Given the description of an element on the screen output the (x, y) to click on. 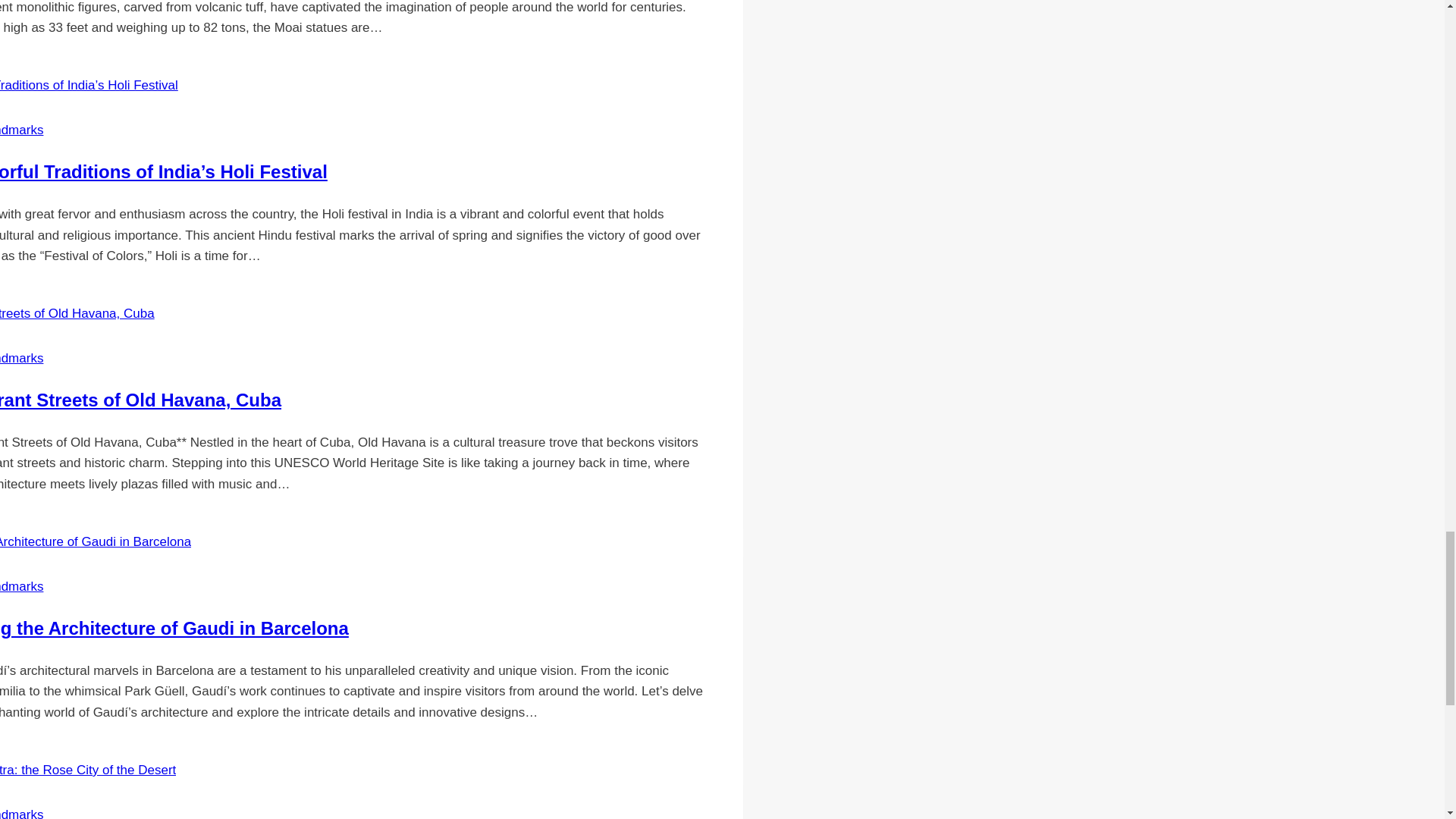
The Vibrant Streets of Old Havana, Cuba (140, 399)
Cultural Landmarks (21, 586)
Cultural Landmarks (21, 813)
Admiring the Architecture of Gaudi in Barcelona (174, 628)
Cultural Landmarks (21, 129)
Cultural Landmarks (21, 358)
